Given the description of an element on the screen output the (x, y) to click on. 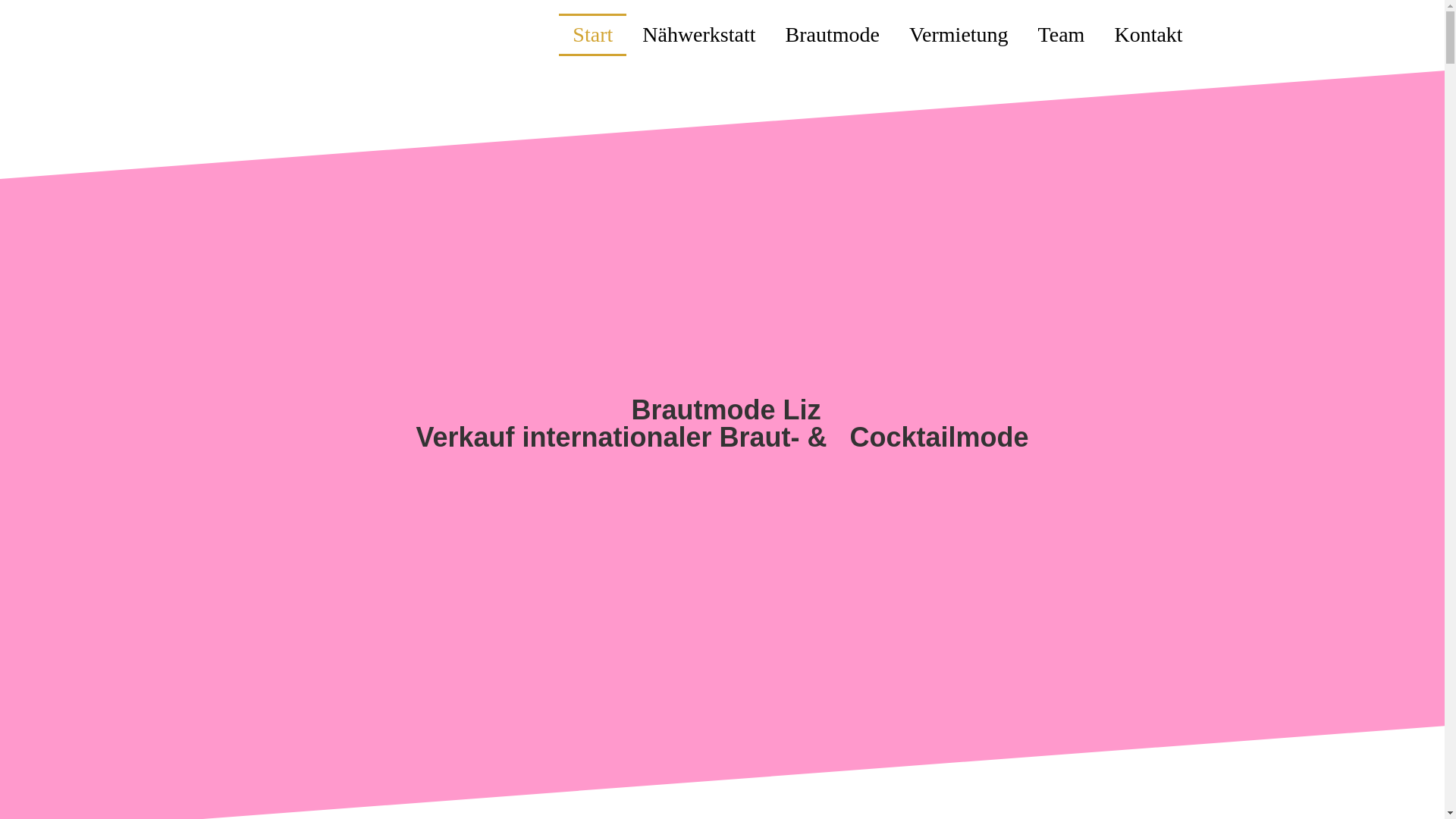
Vermietung Element type: text (958, 34)
Kontakt Element type: text (1147, 34)
Start Element type: text (592, 34)
Team Element type: text (1061, 34)
Brautmode Element type: text (832, 34)
